Given the description of an element on the screen output the (x, y) to click on. 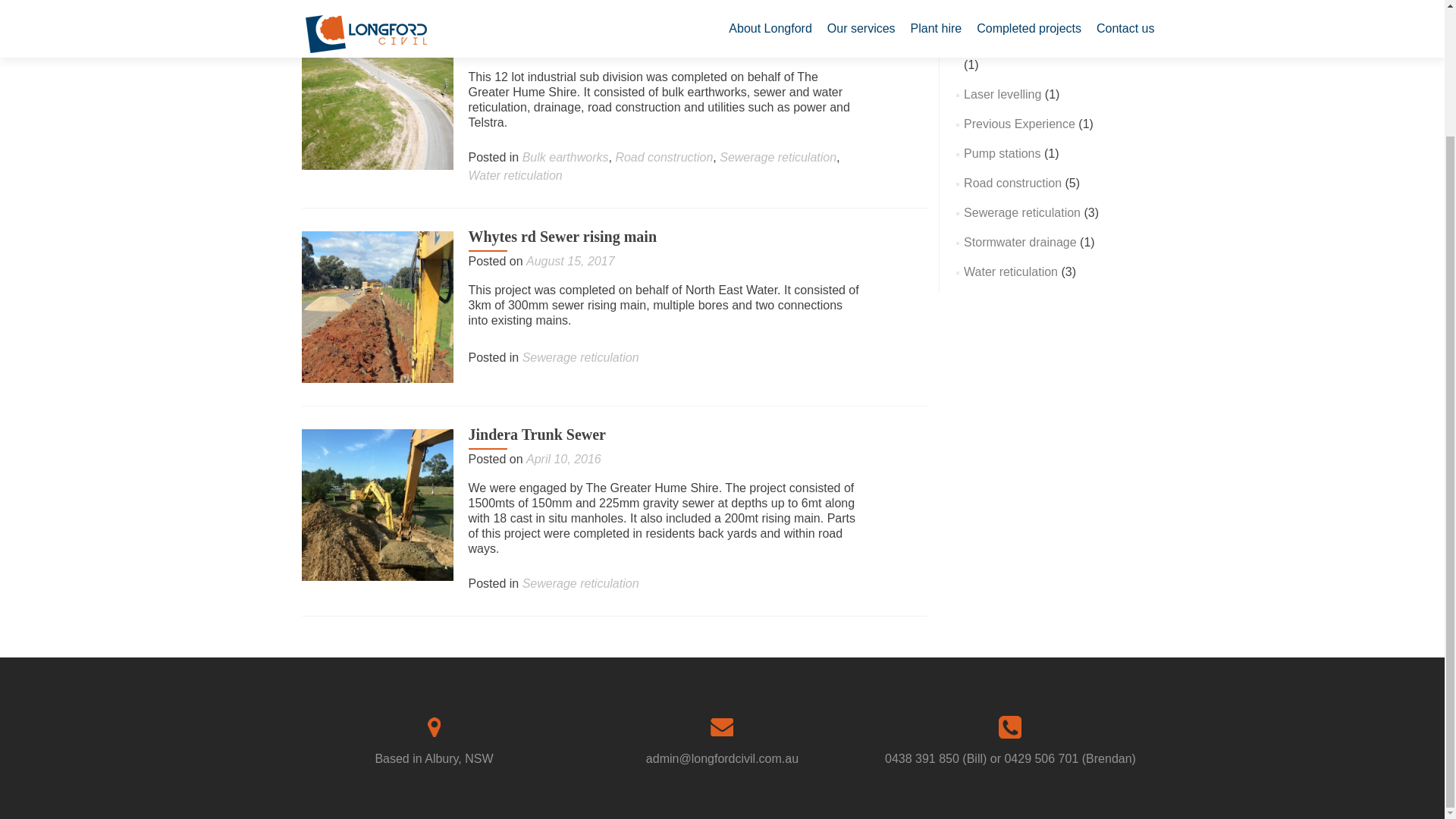
Road construction (1012, 182)
August 15, 2017 (569, 260)
Pump stations (1002, 153)
Previous Experience (1019, 123)
Bulk earthworks (1006, 16)
Concrete pavement construction (1050, 46)
Road construction (663, 156)
Jindera Trunk Sewer (537, 434)
Water reticulation (1010, 271)
Sewerage reticulation (580, 357)
Jindera Industrial Subdivision (376, 93)
Jindera Trunk Sewer (376, 504)
Water reticulation (515, 174)
Whytes rd Sewer rising main (563, 236)
Whytes rd Sewer rising main (376, 306)
